Given the description of an element on the screen output the (x, y) to click on. 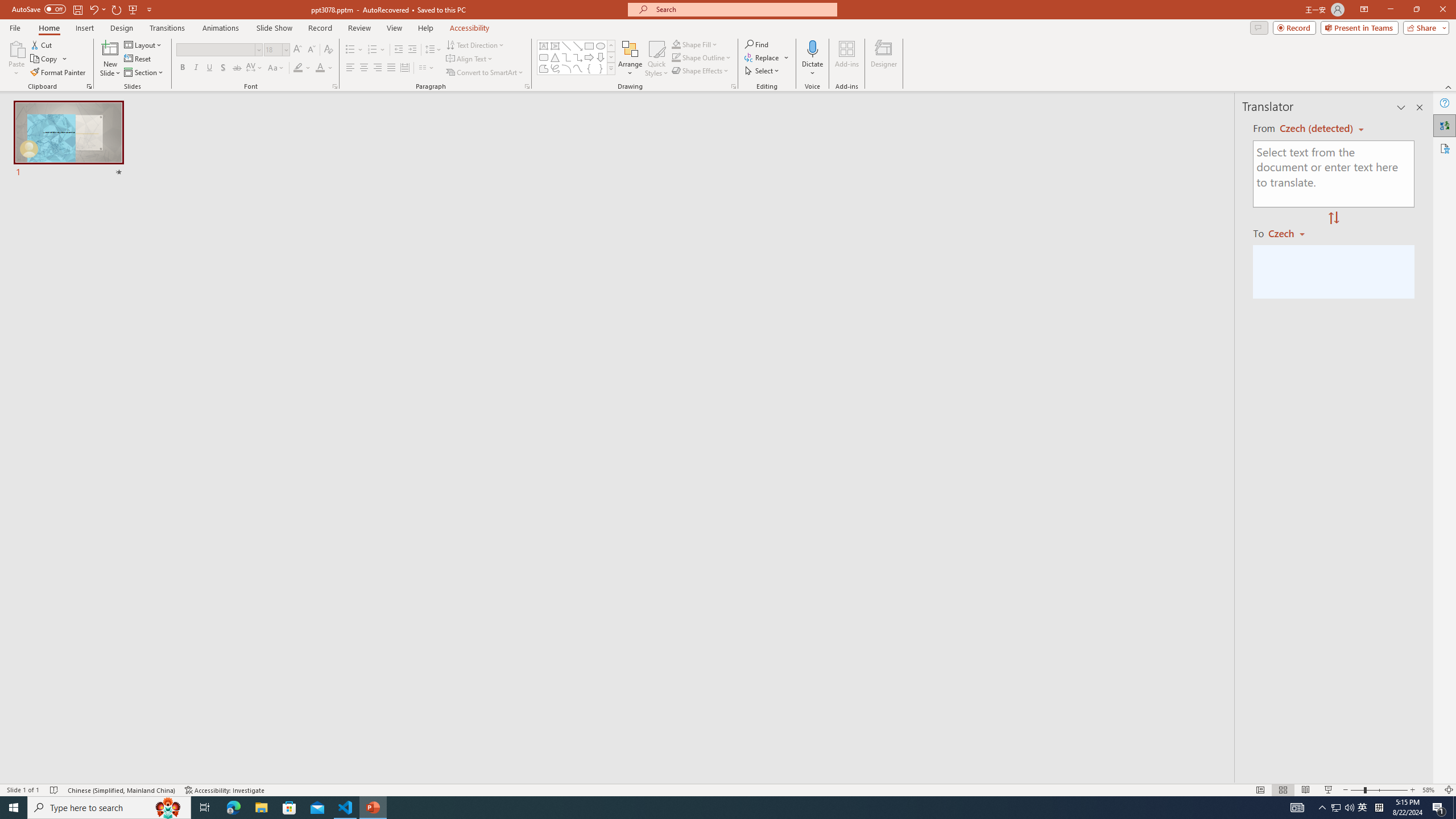
Copilot (Ctrl+Shift+.) (1434, 46)
